Given the description of an element on the screen output the (x, y) to click on. 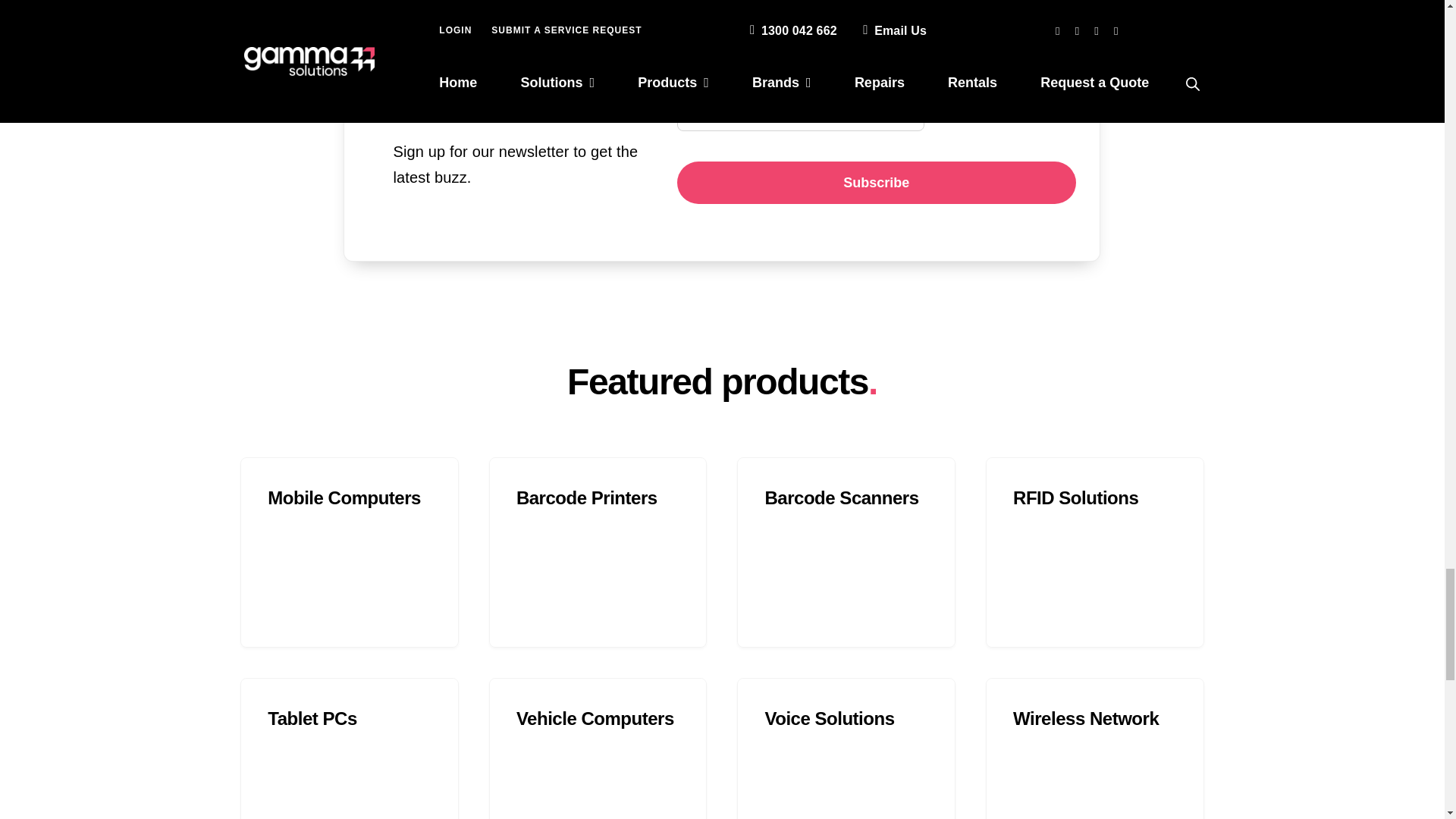
Subscribe (876, 182)
